Given the description of an element on the screen output the (x, y) to click on. 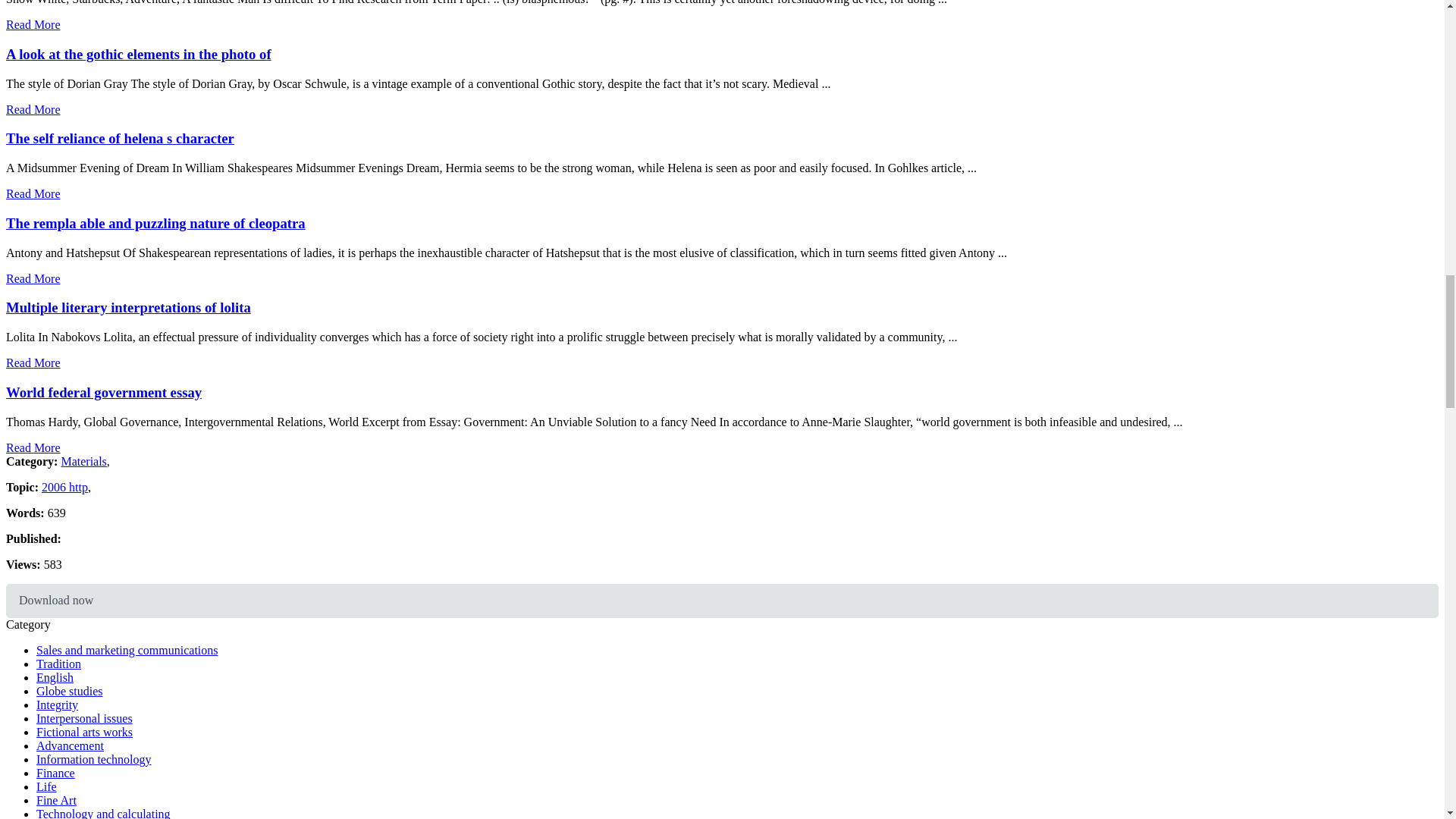
Read More (33, 109)
Sales and marketing communications (127, 649)
Read More (33, 278)
Read More (33, 24)
Read More (33, 447)
Interpersonal issues (84, 717)
Tradition (58, 663)
Integrity (57, 704)
Globe studies (69, 690)
2006 http (64, 486)
